Given the description of an element on the screen output the (x, y) to click on. 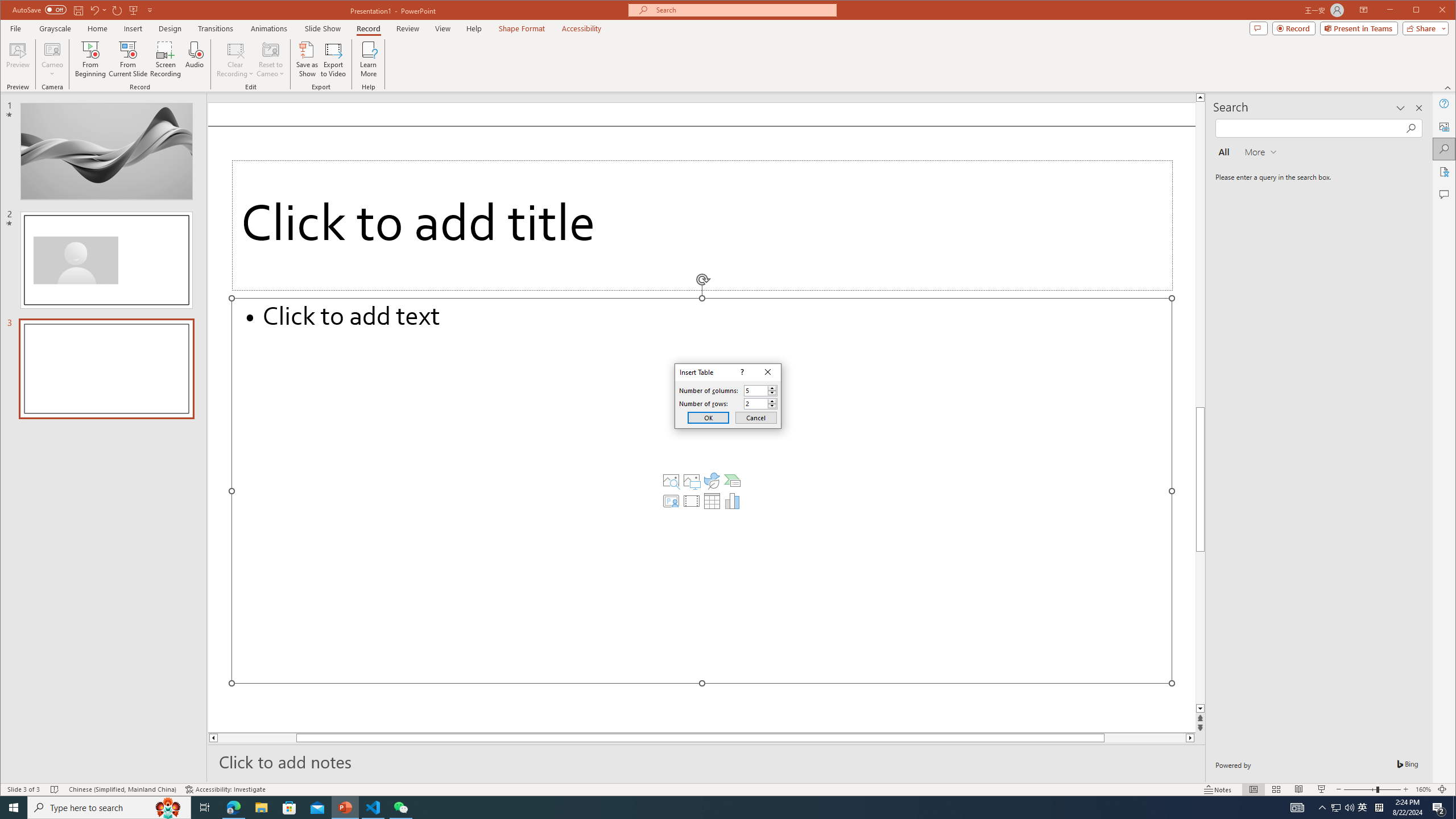
Cancel (756, 417)
Alt Text (1444, 125)
Insert Chart (732, 501)
Insert Cameo (670, 501)
Number of columns (755, 390)
Reset to Cameo (269, 59)
WeChat - 1 running window (400, 807)
